Given the description of an element on the screen output the (x, y) to click on. 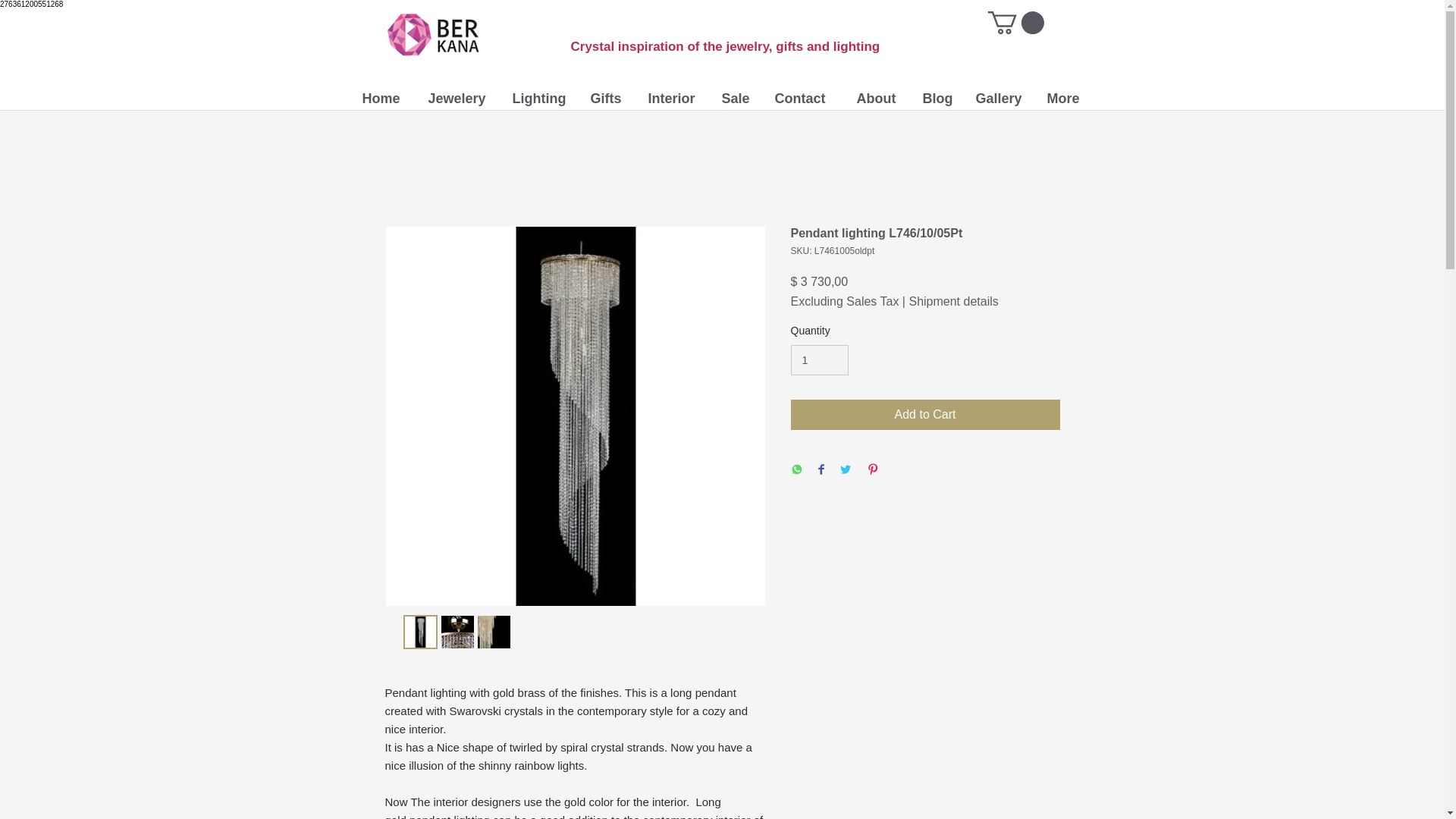
Home (383, 97)
Gifts (608, 97)
About (877, 97)
Jewelery (458, 97)
Contact (803, 97)
Gallery (999, 97)
1 (818, 359)
Blog (937, 97)
Sale (736, 97)
